Given the description of an element on the screen output the (x, y) to click on. 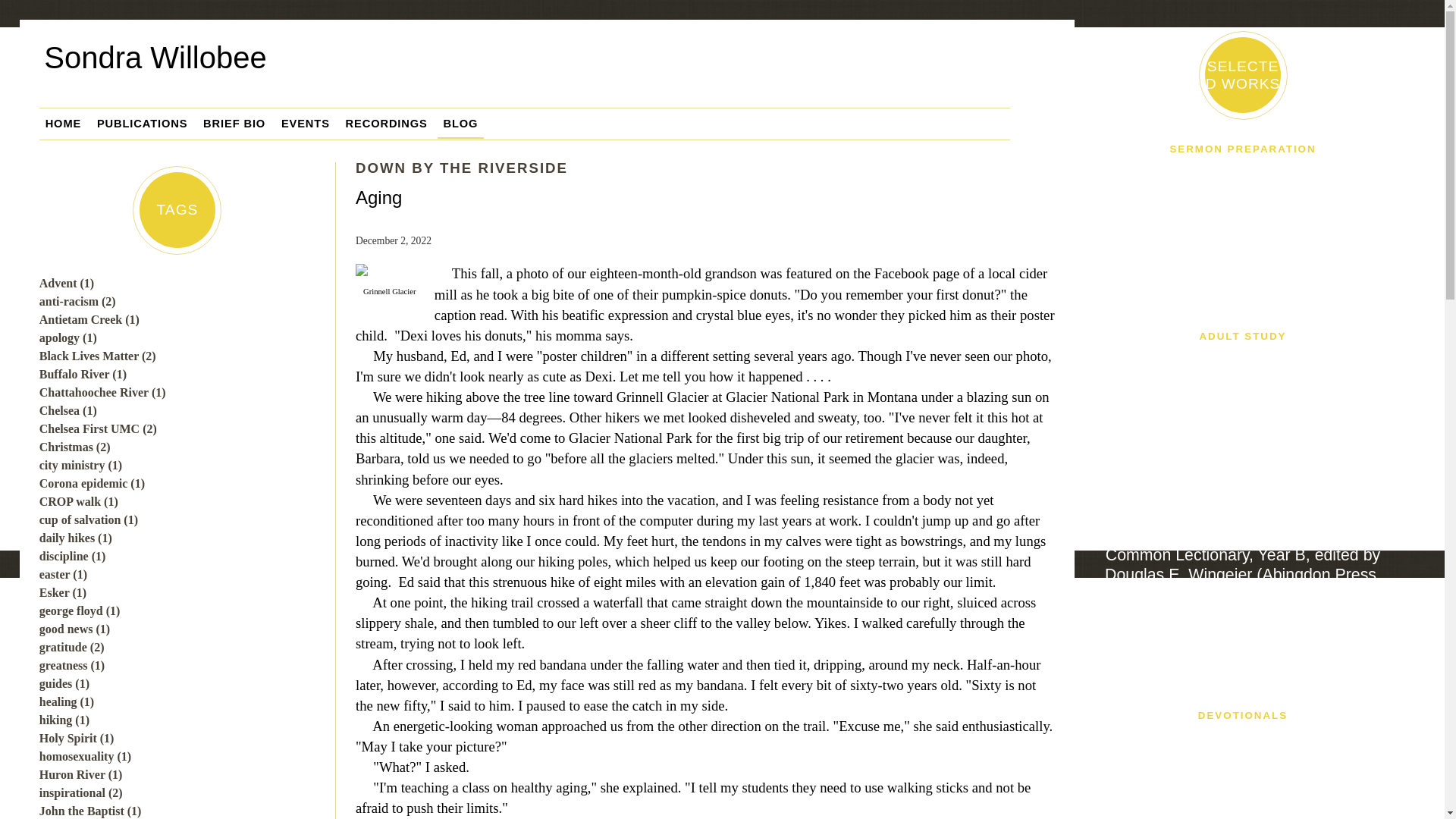
Sondra Willobee (548, 69)
HOME (63, 123)
RECORDINGS (386, 123)
EVENTS (305, 123)
PUBLICATIONS (141, 123)
BLOG (461, 123)
BRIEF BIO (233, 123)
